Given the description of an element on the screen output the (x, y) to click on. 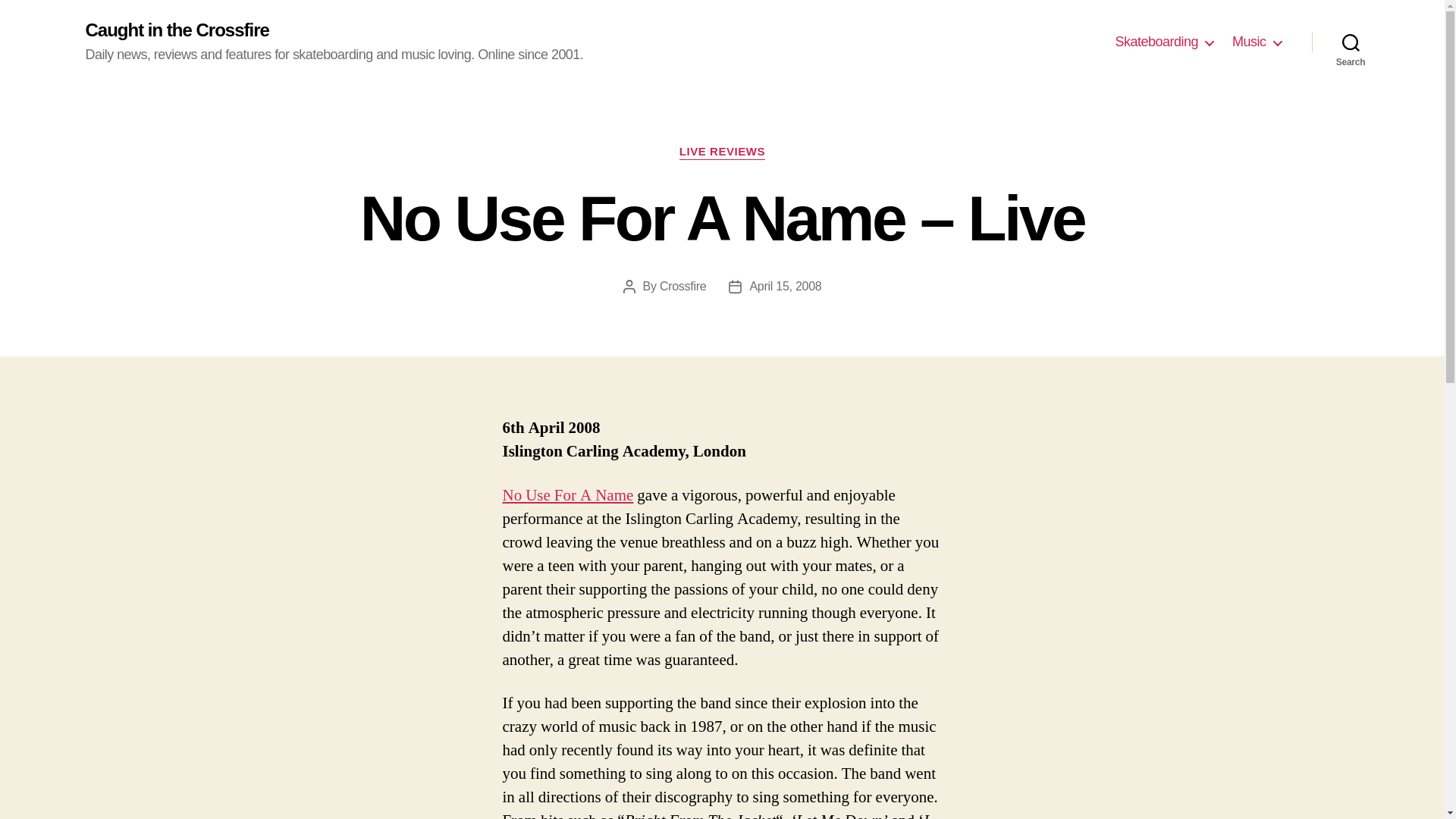
Search (1350, 41)
Skateboarding (1163, 42)
Caught in the Crossfire (175, 30)
Music (1256, 42)
